Given the description of an element on the screen output the (x, y) to click on. 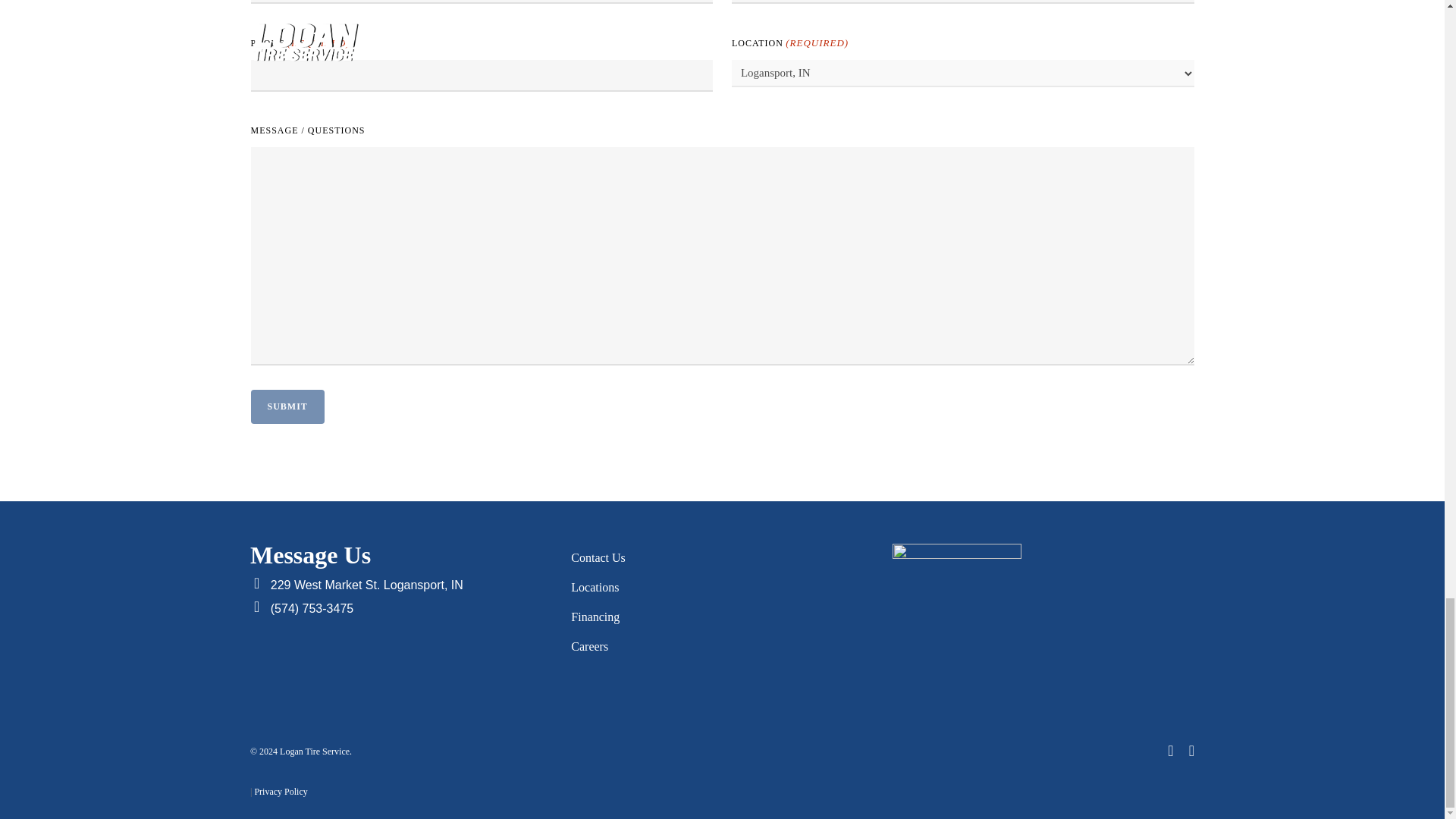
Submit (286, 406)
Contact Us (721, 557)
Financing (721, 616)
Careers (721, 646)
Locations (721, 586)
Privacy Policy (280, 791)
Submit (286, 406)
229 West Market St. Logansport, IN (366, 584)
